Given the description of an element on the screen output the (x, y) to click on. 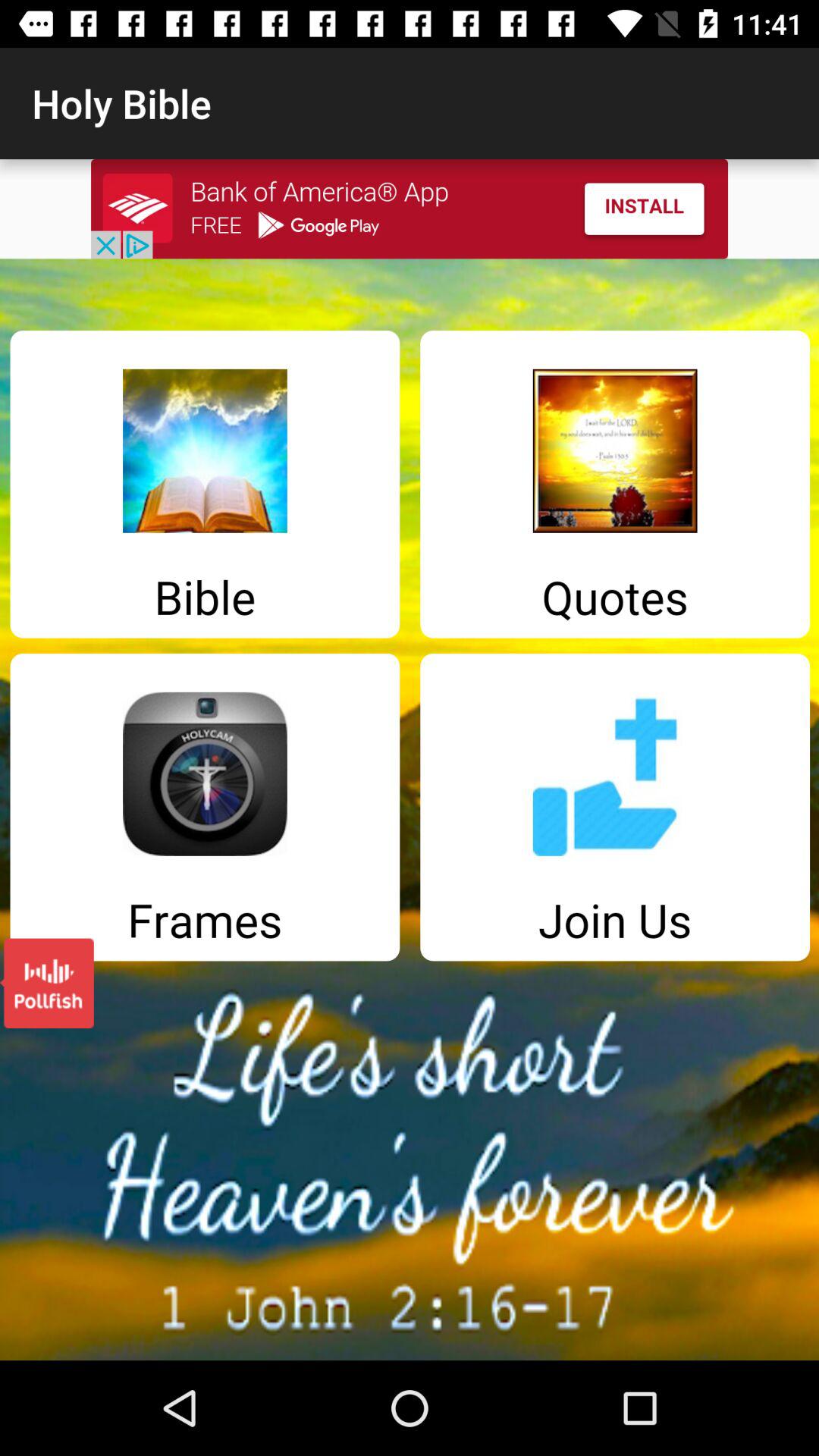
select bank advertisement (409, 208)
